Given the description of an element on the screen output the (x, y) to click on. 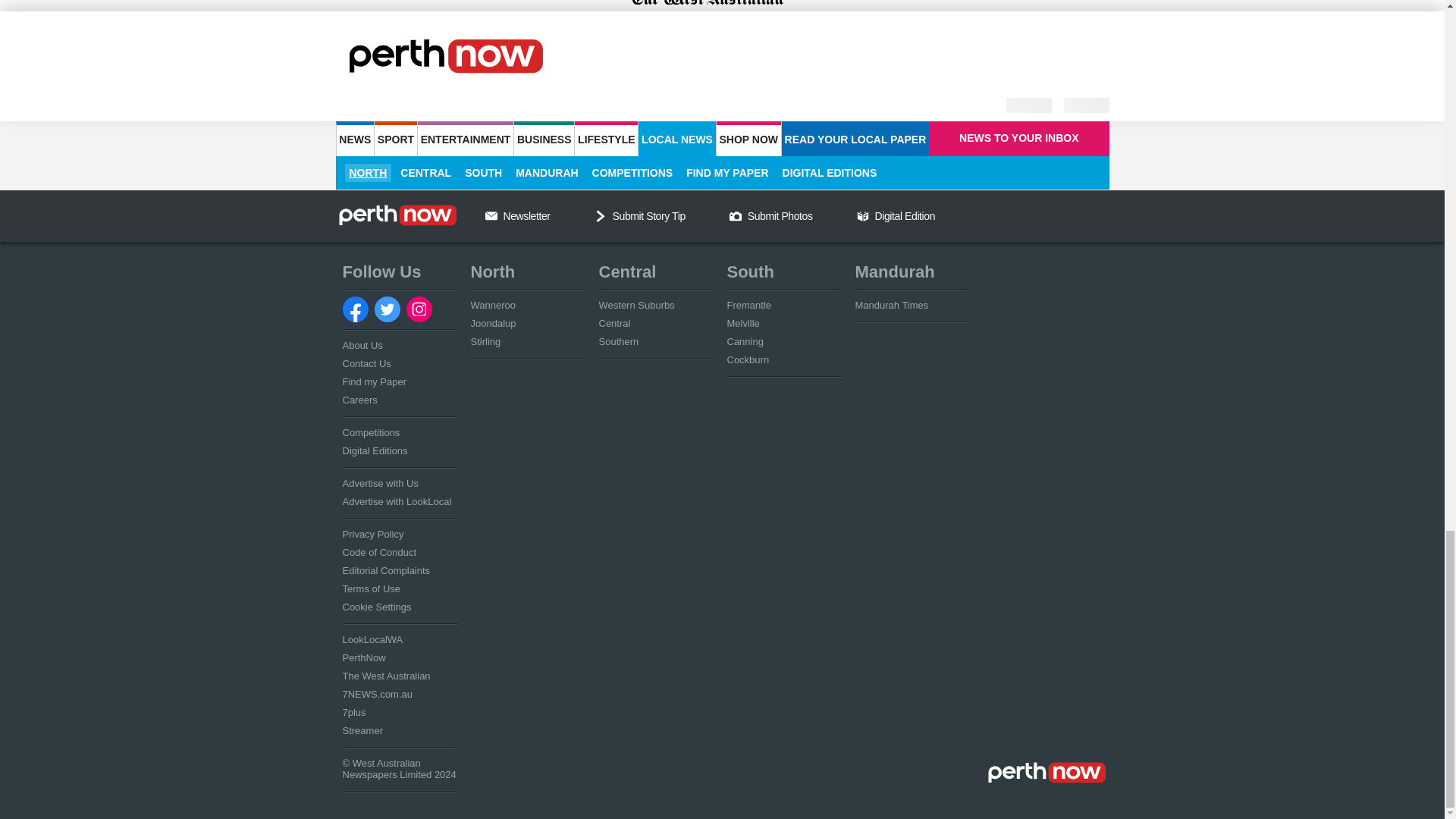
Chevron Down Icon (600, 215)
Email Us (490, 215)
Camera Icon (735, 215)
